Given the description of an element on the screen output the (x, y) to click on. 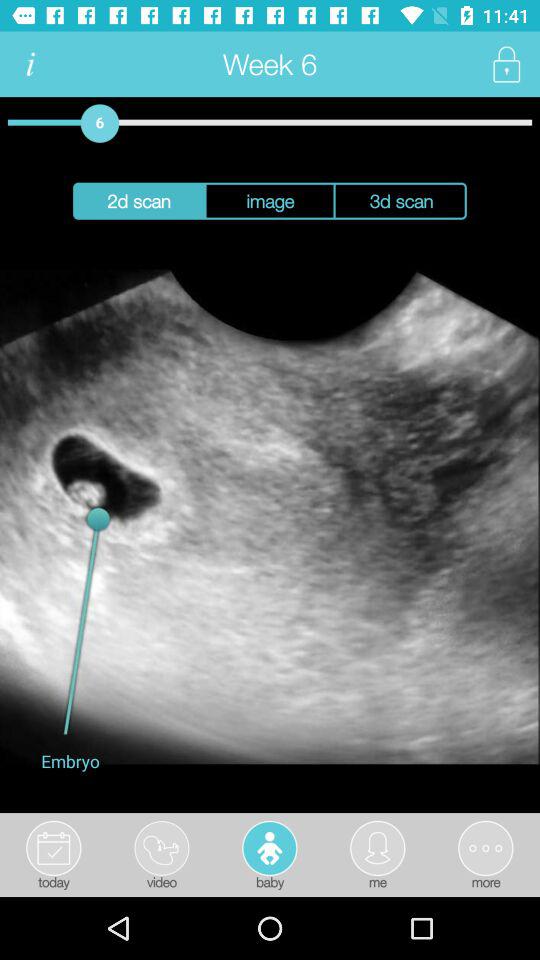
select 2d scan (138, 200)
